Given the description of an element on the screen output the (x, y) to click on. 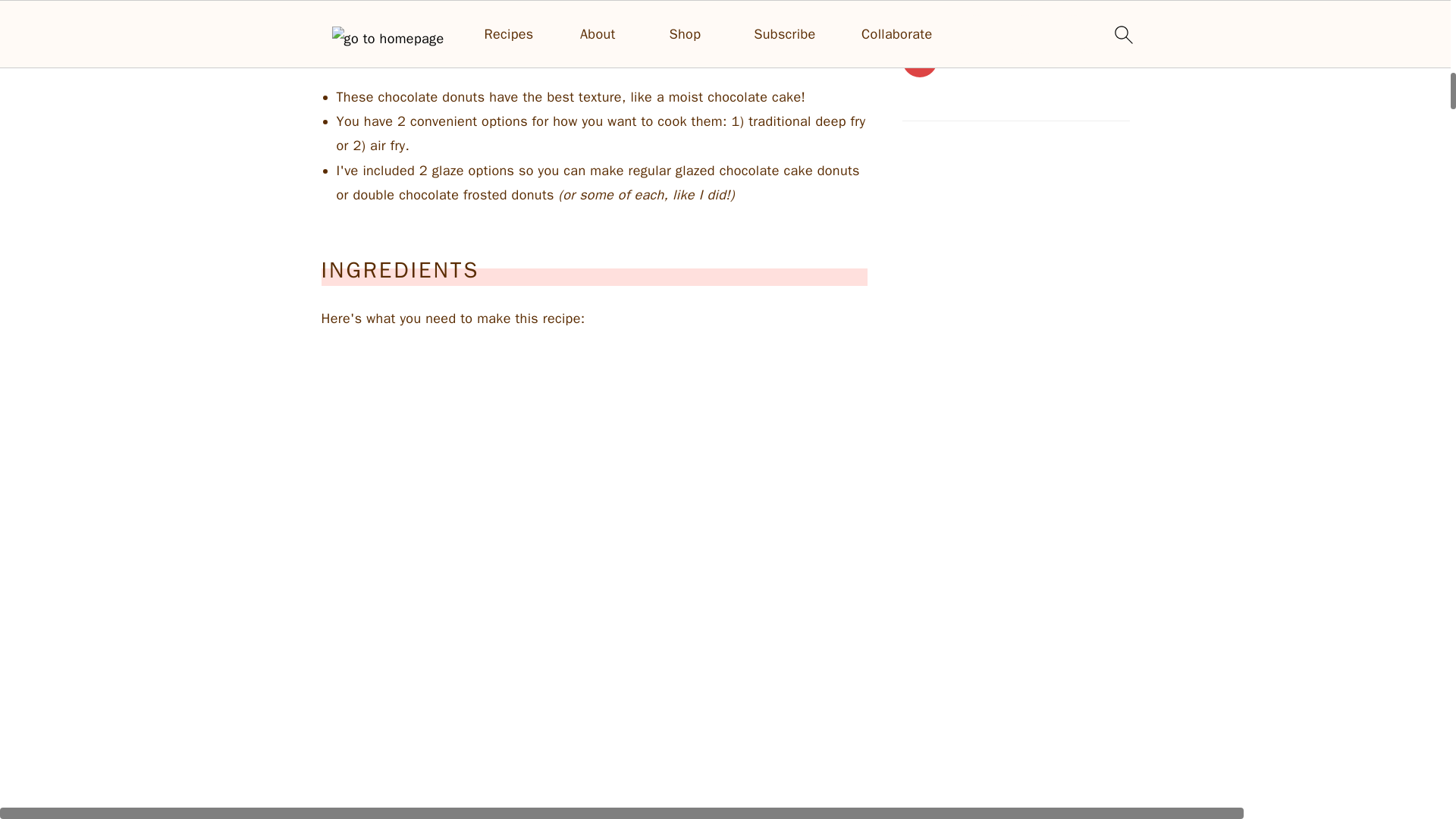
Follow on Facebook (1015, 59)
Follow on Pinterest (1015, 3)
Follow on Instagram (1015, 24)
